Given the description of an element on the screen output the (x, y) to click on. 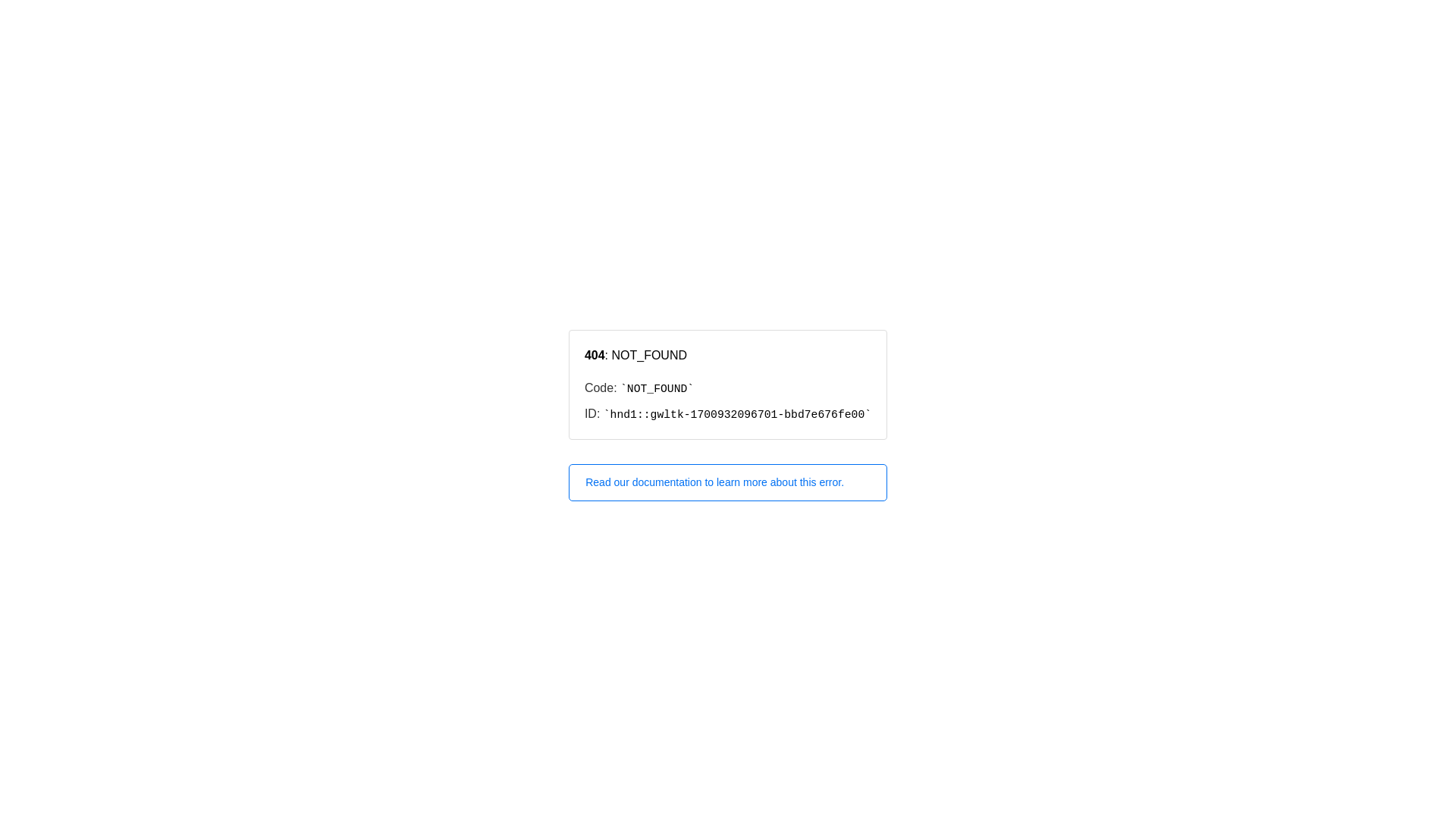
Read our documentation to learn more about this error. Element type: text (727, 482)
